Given the description of an element on the screen output the (x, y) to click on. 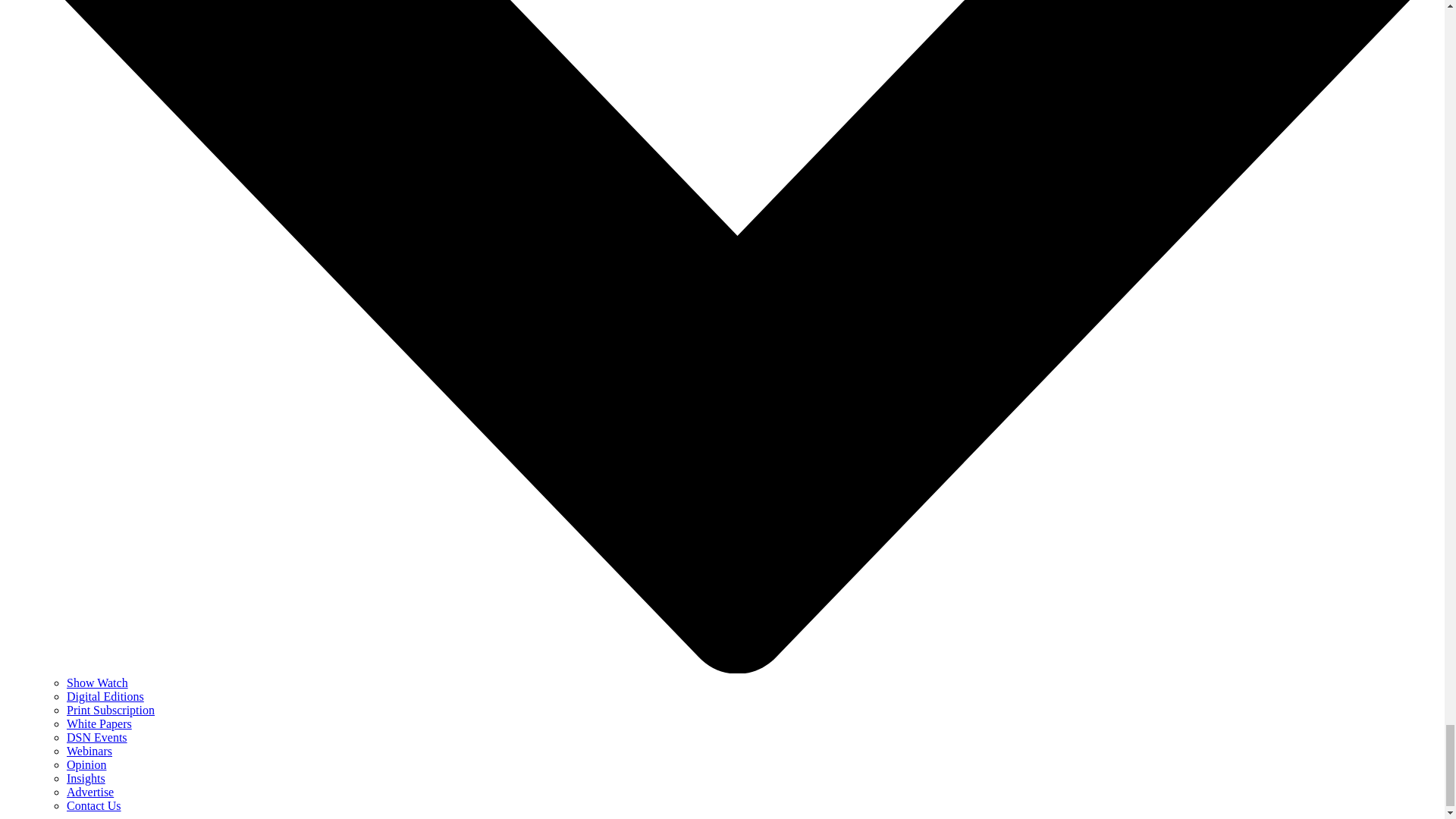
Insights (85, 778)
Contact Us (93, 805)
Opinion (86, 764)
DSN Events (97, 737)
Show Watch (97, 682)
Webinars (89, 750)
Print Subscription (110, 709)
Digital Editions (105, 696)
Advertise (89, 791)
White Papers (99, 723)
